Given the description of an element on the screen output the (x, y) to click on. 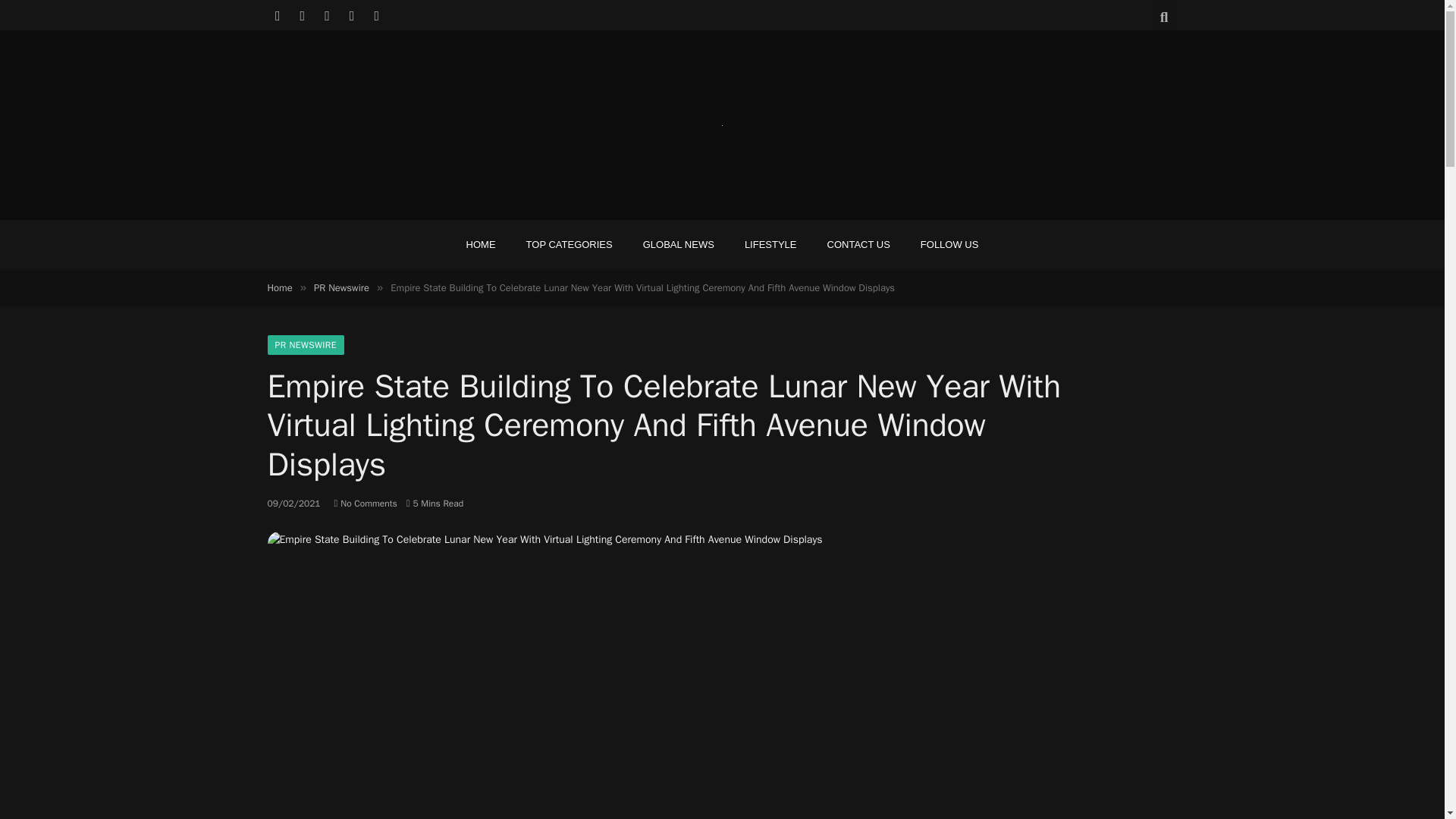
HOME (481, 244)
Facebook (277, 15)
Instagram (327, 15)
TikTok (376, 15)
CONTACT US (858, 244)
TOP CATEGORIES (569, 244)
GLOBAL NEWS (678, 244)
FOLLOW US (949, 244)
LIFESTYLE (770, 244)
LinkedIn (351, 15)
